Given the description of an element on the screen output the (x, y) to click on. 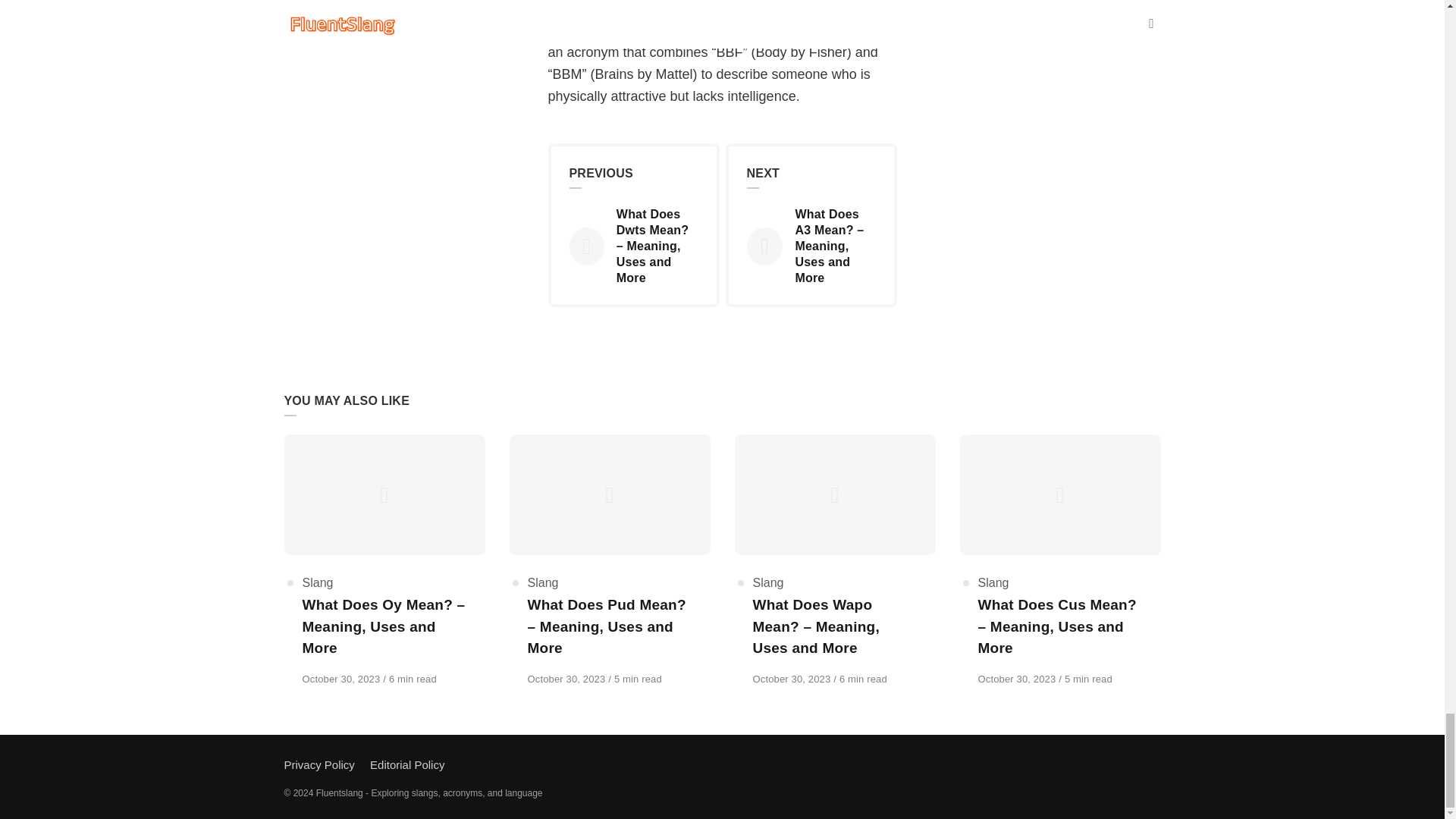
October 30, 2023 (792, 678)
October 30, 2023 (341, 678)
October 30, 2023 (567, 678)
October 30, 2023 (1018, 678)
Slang (993, 582)
Slang (543, 582)
October 30, 2023 (792, 678)
Privacy Policy (318, 764)
October 30, 2023 (341, 678)
October 30, 2023 (567, 678)
